Given the description of an element on the screen output the (x, y) to click on. 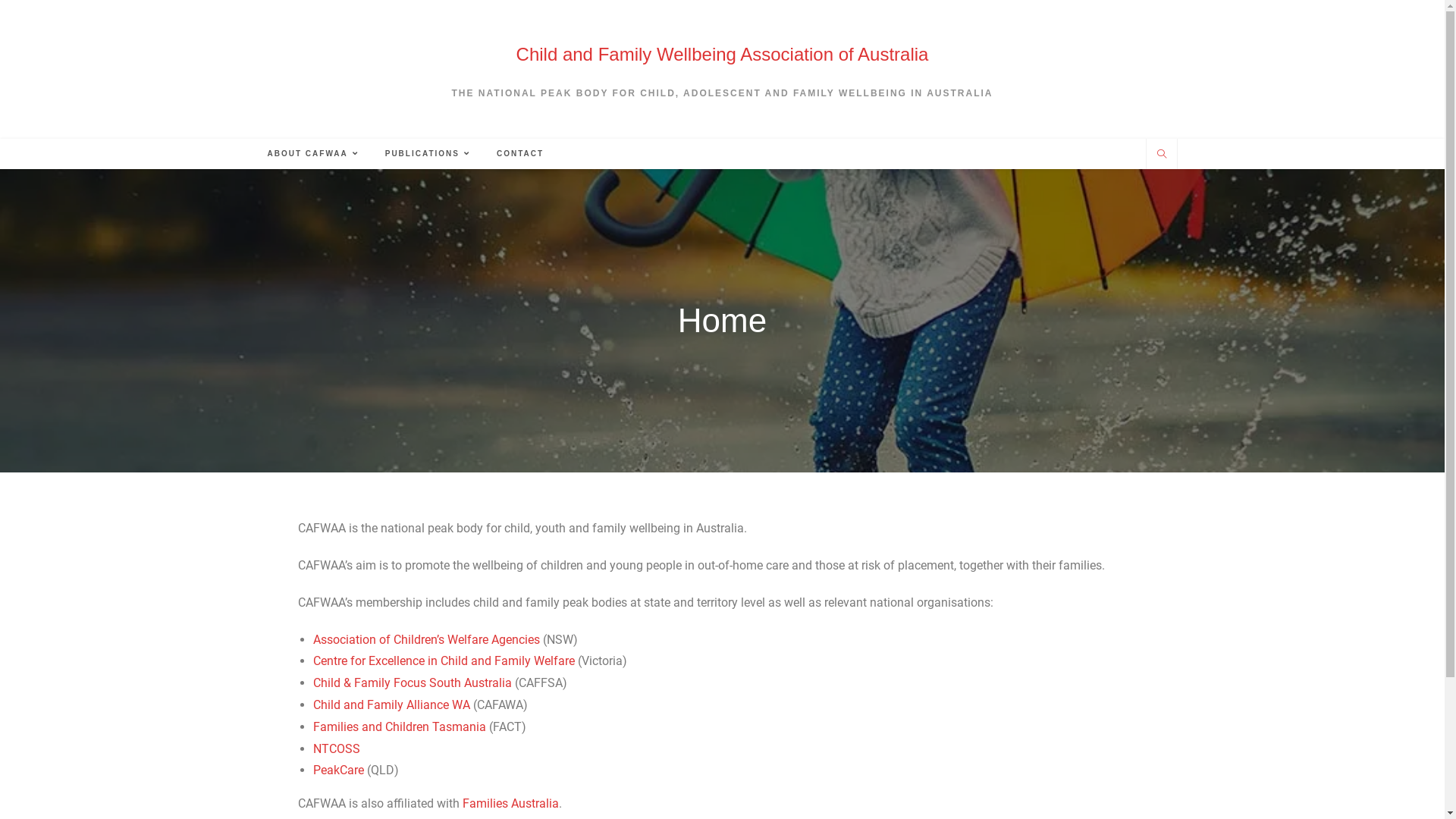
PUBLICATIONS Element type: text (429, 153)
NTCOSS Element type: text (335, 748)
Child and Family Alliance WA Element type: text (390, 704)
Families Australia Element type: text (510, 803)
Families and Children Tasmania Element type: text (398, 726)
Child & Family Focus South Australia Element type: text (411, 682)
PeakCare Element type: text (337, 769)
ABOUT CAFWAA Element type: text (314, 153)
CONTACT Element type: text (520, 153)
Child and Family Wellbeing Association of Australia Element type: text (722, 53)
Centre for Excellence in Child and Family Welfare Element type: text (443, 660)
